Given the description of an element on the screen output the (x, y) to click on. 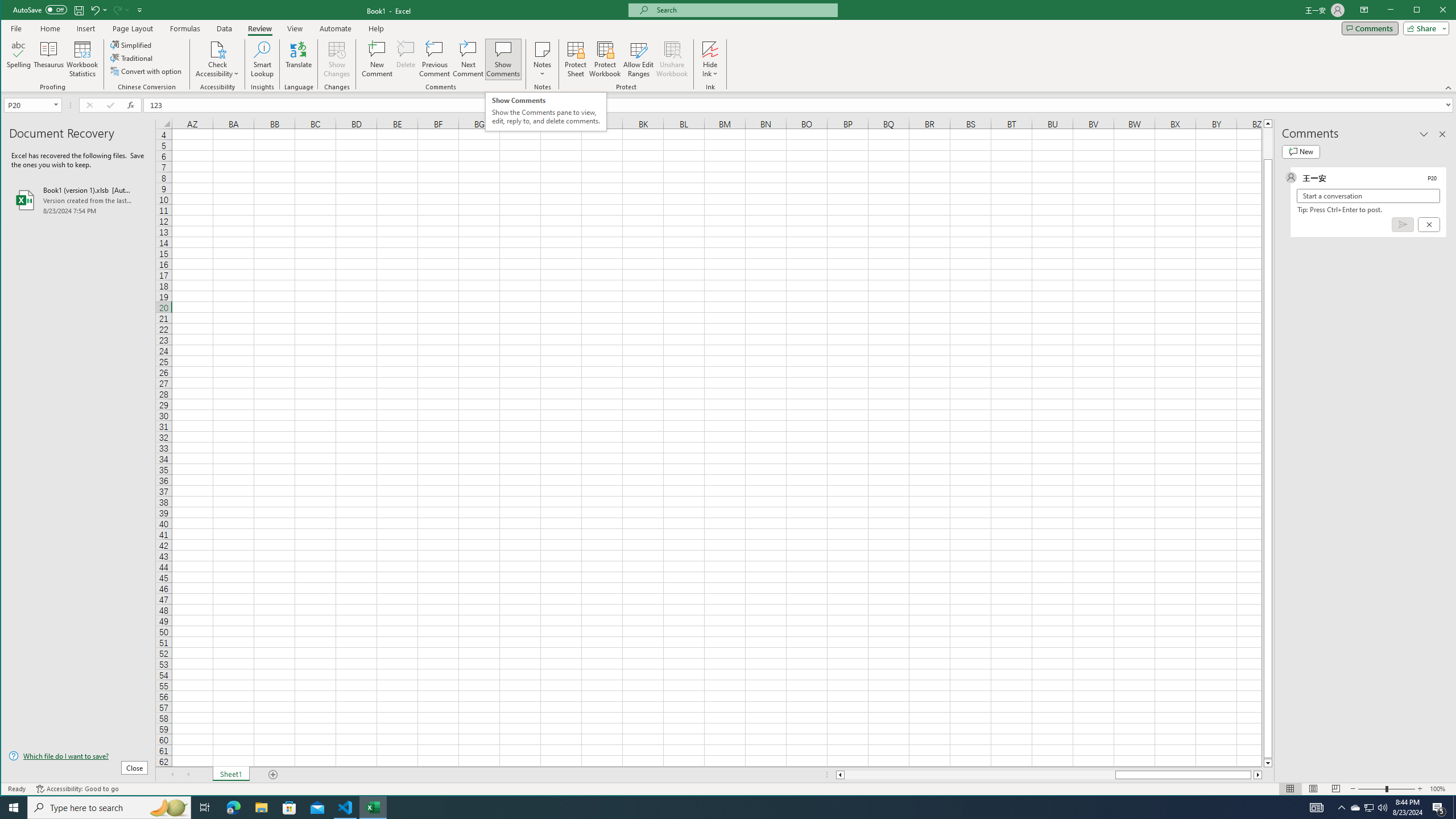
Post comment (Ctrl + Enter) (1402, 224)
Workbook Statistics (82, 59)
Notes (541, 59)
Protect Sheet... (575, 59)
Show Comments (502, 59)
